Given the description of an element on the screen output the (x, y) to click on. 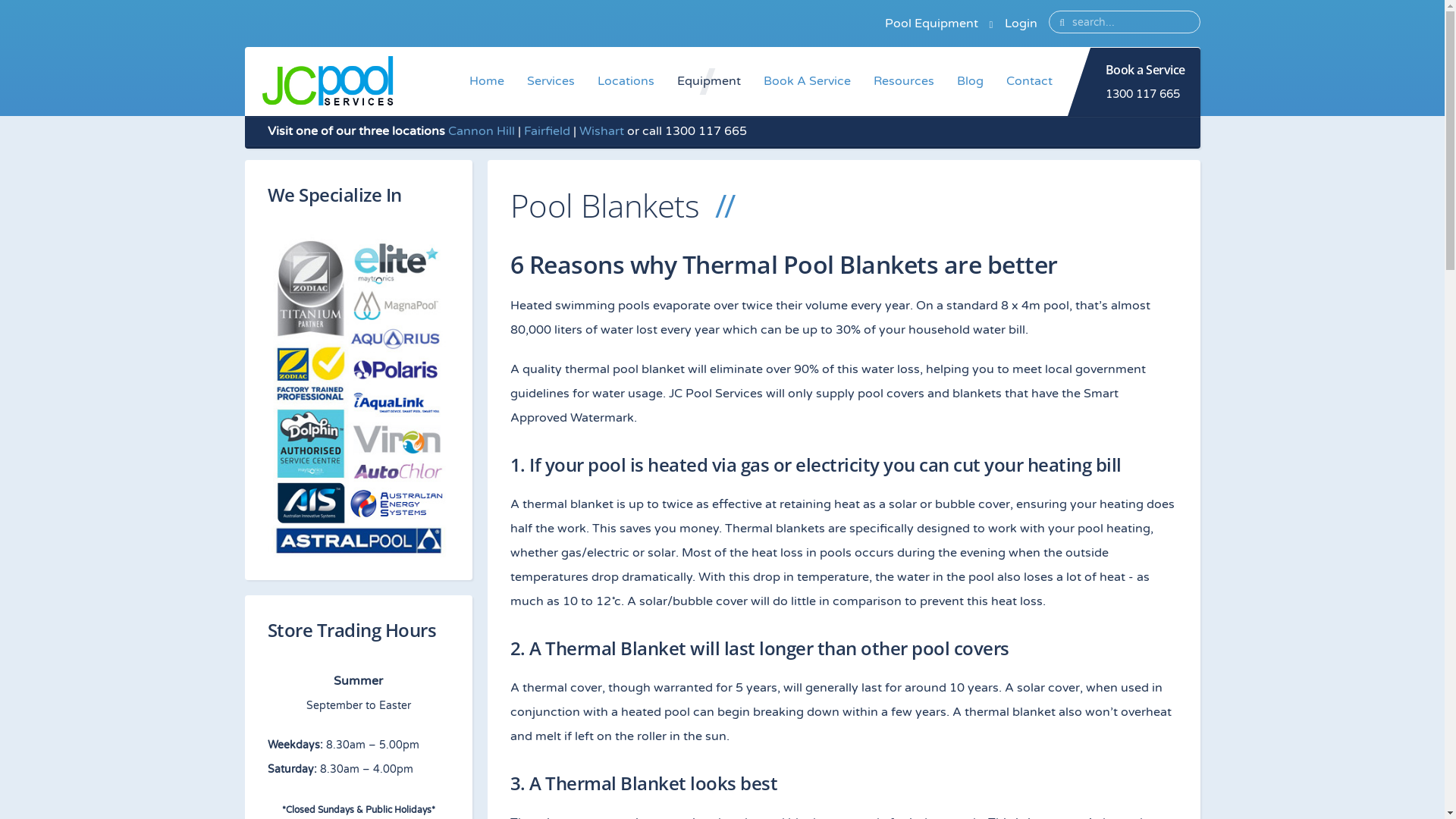
Cannon Hill Element type: text (480, 130)
Fairfield Element type: text (546, 130)
1300 117 665 Element type: text (1142, 93)
Locations Element type: text (625, 81)
Services Element type: text (550, 81)
Wishart Element type: text (601, 130)
Blog Element type: text (969, 81)
Contact Element type: text (1028, 81)
JC Pool Services Partnerships Element type: hover (357, 395)
Resources Element type: text (902, 81)
Equipment Element type: text (708, 81)
Home Element type: text (486, 81)
Pool Equipment Element type: text (930, 23)
JC Pool Services Logo Element type: hover (326, 81)
Login Element type: text (1020, 23)
Book A Service Element type: text (807, 81)
